Given the description of an element on the screen output the (x, y) to click on. 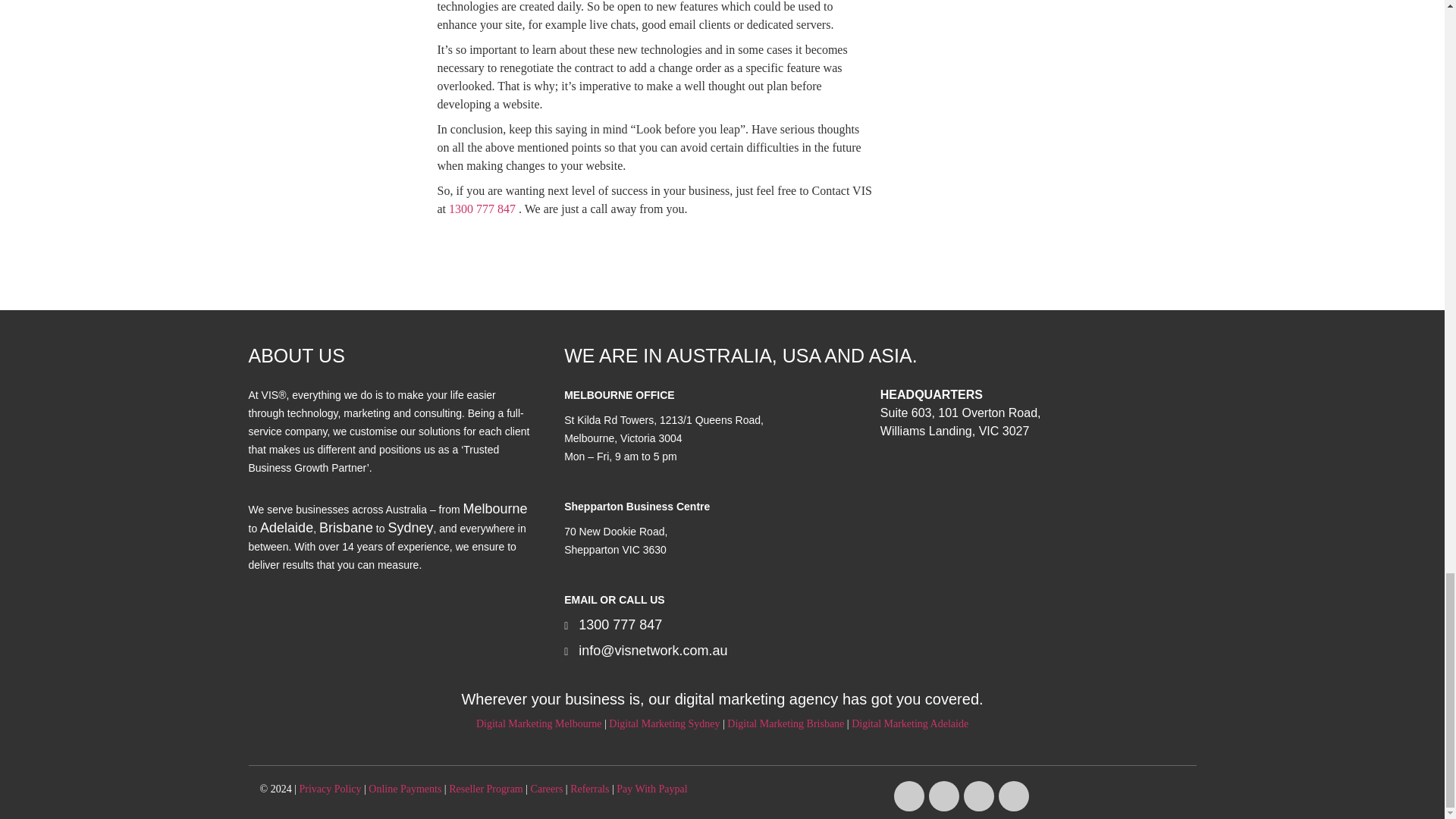
Facebook (908, 796)
Youtube (978, 796)
Linkedin (1013, 796)
Instagram (943, 796)
